Given the description of an element on the screen output the (x, y) to click on. 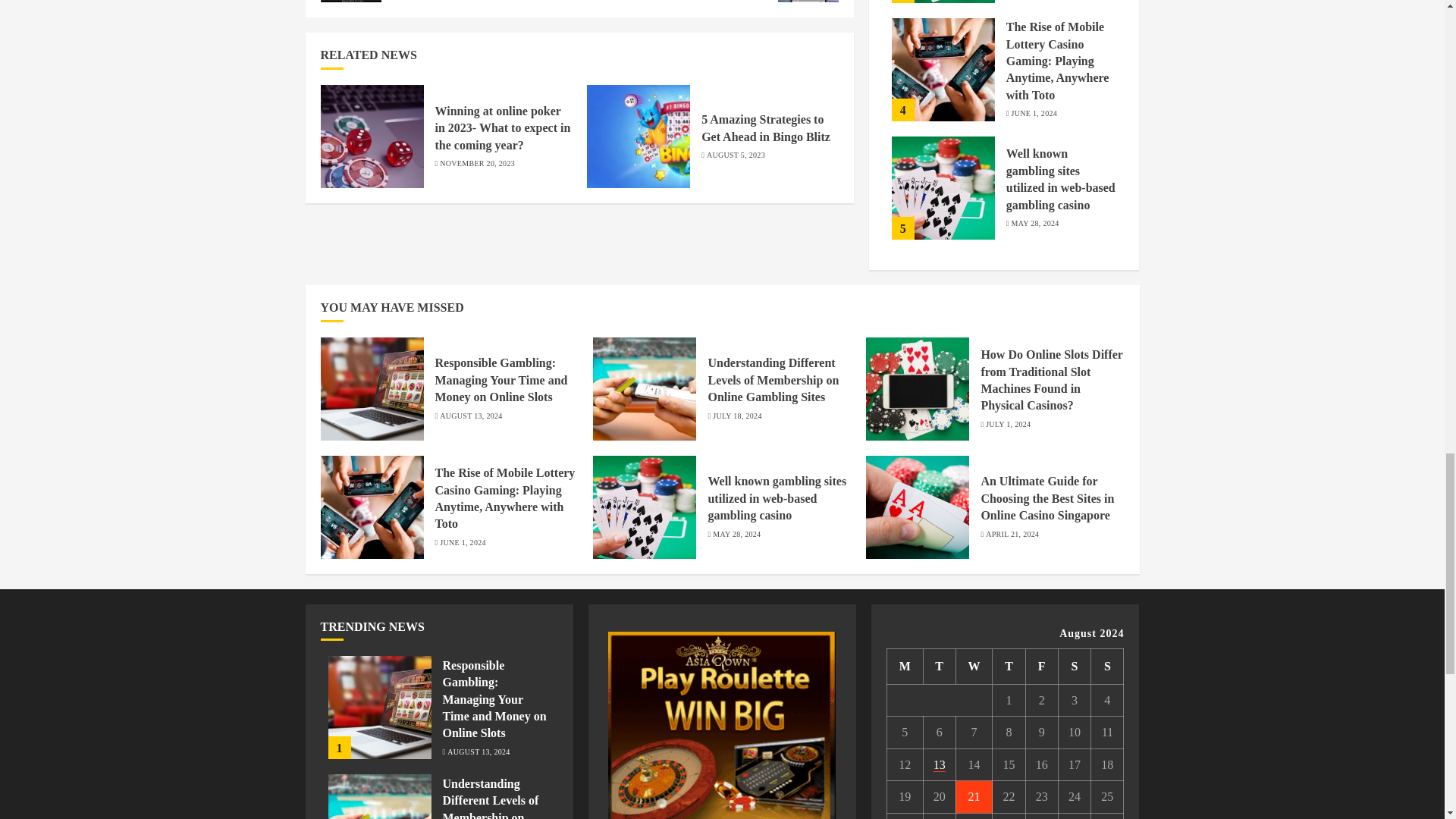
NOVEMBER 20, 2023 (477, 163)
Saturday (1074, 665)
Sunday (1107, 665)
Wednesday (973, 665)
Thursday (1008, 665)
Tuesday (939, 665)
5 Amazing Strategies to Get Ahead in Bingo Blitz (765, 128)
AUGUST 5, 2023 (735, 154)
Friday (1041, 665)
